Given the description of an element on the screen output the (x, y) to click on. 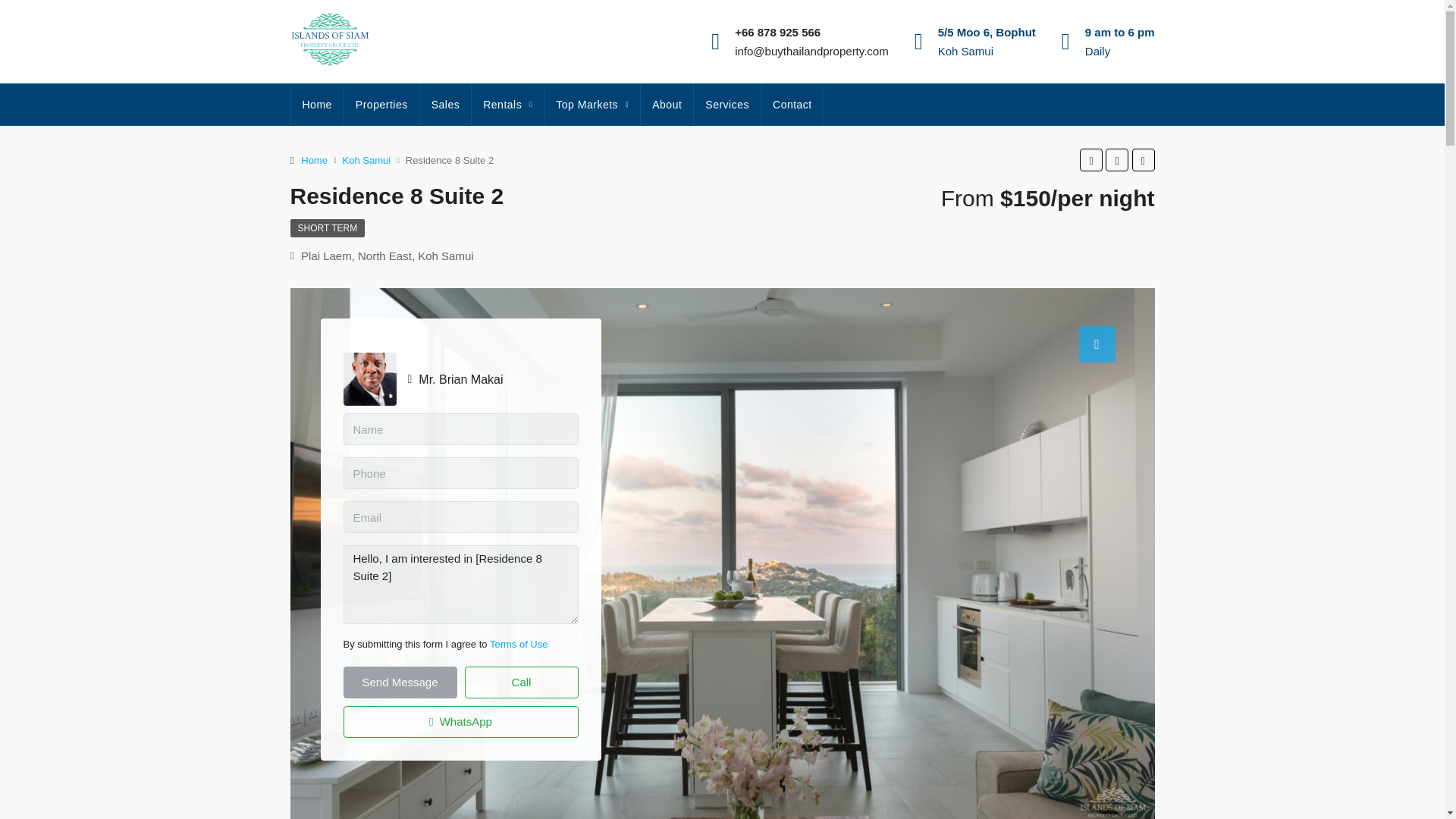
Top Markets (592, 104)
Sales (445, 104)
Contact (792, 104)
Rentals (507, 104)
Properties (381, 104)
About (666, 104)
Home (317, 104)
Houses and Villas for sale (445, 104)
Houses For Sale and Rental  Thailand (317, 104)
Services (727, 104)
Islands of Siam Property Group (666, 104)
Properties for rent in Thailand (507, 104)
